Given the description of an element on the screen output the (x, y) to click on. 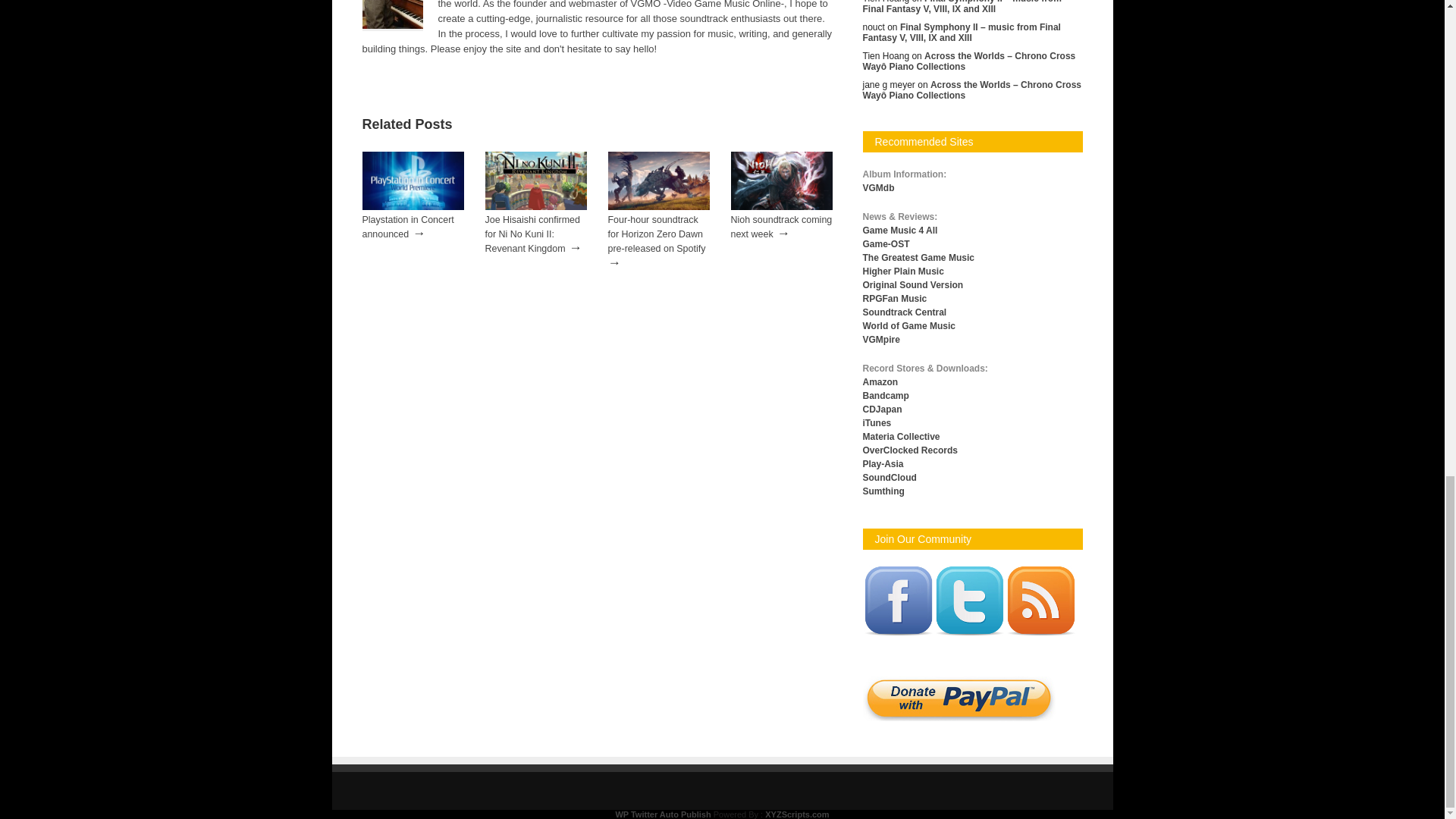
Joe Hisaishi confirmed for Ni No Kuni II: Revenant Kingdom (535, 206)
Playstation in Concert announced (408, 226)
Playstation in Concert announced (408, 226)
Joe Hisaishi confirmed for Ni No Kuni II: Revenant Kingdom (531, 233)
Playstation in Concert announced (413, 206)
Nioh soundtrack coming next week (781, 206)
Joe Hisaishi confirmed for Ni No Kuni II: Revenant Kingdom (531, 233)
Nioh soundtrack coming next week (781, 226)
